Given the description of an element on the screen output the (x, y) to click on. 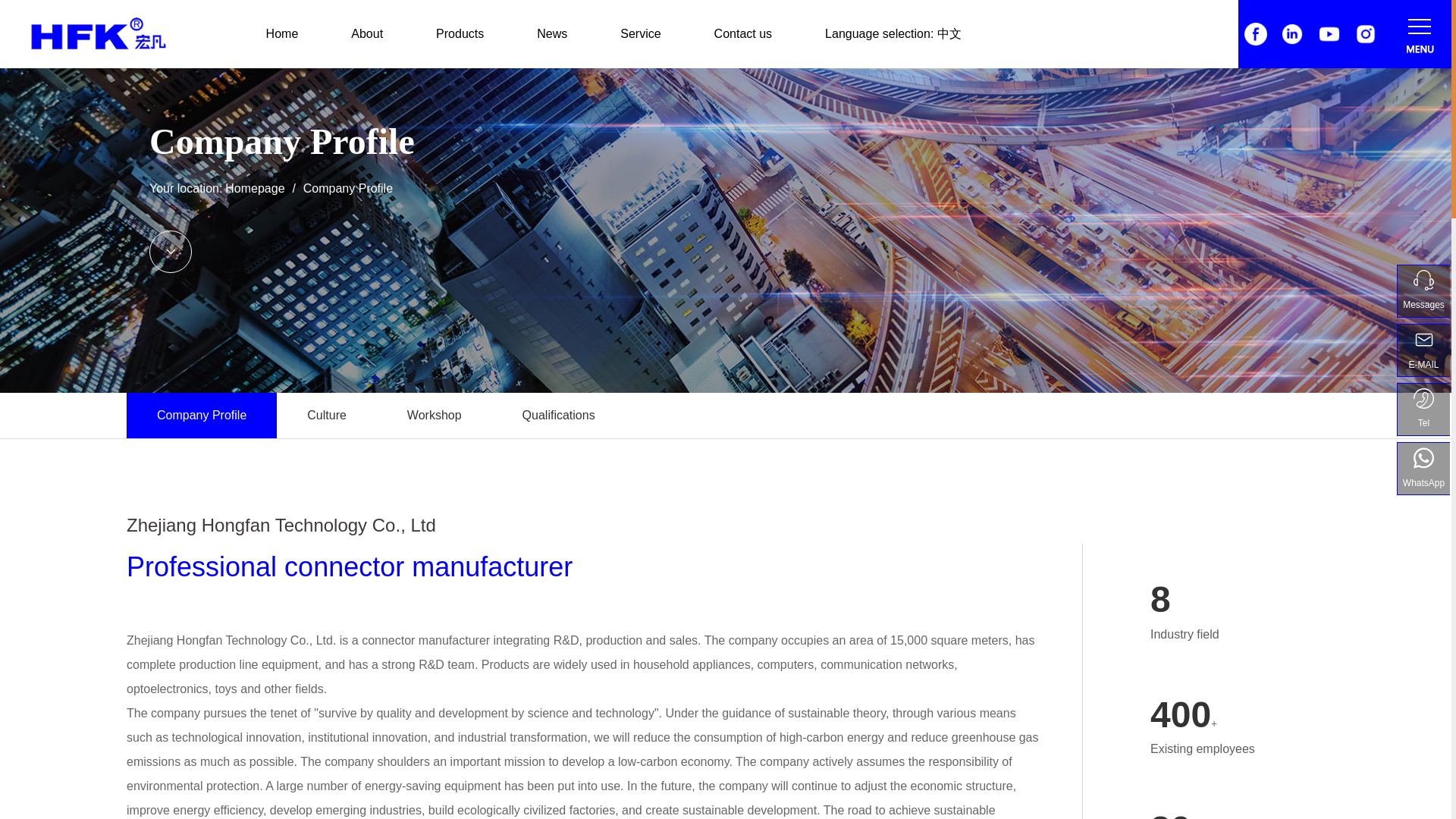
HFK Electronic (1328, 33)
HFK Electronic (98, 33)
Culture (326, 415)
HFK Electronic (1292, 33)
HFK Electronic (1365, 33)
Company profile (201, 415)
HFK Electronic (1255, 33)
Contact us (742, 33)
Workshop (434, 415)
Service (640, 33)
Home (282, 33)
Products (459, 33)
About (366, 33)
Qualifications (559, 415)
News (552, 33)
